Given the description of an element on the screen output the (x, y) to click on. 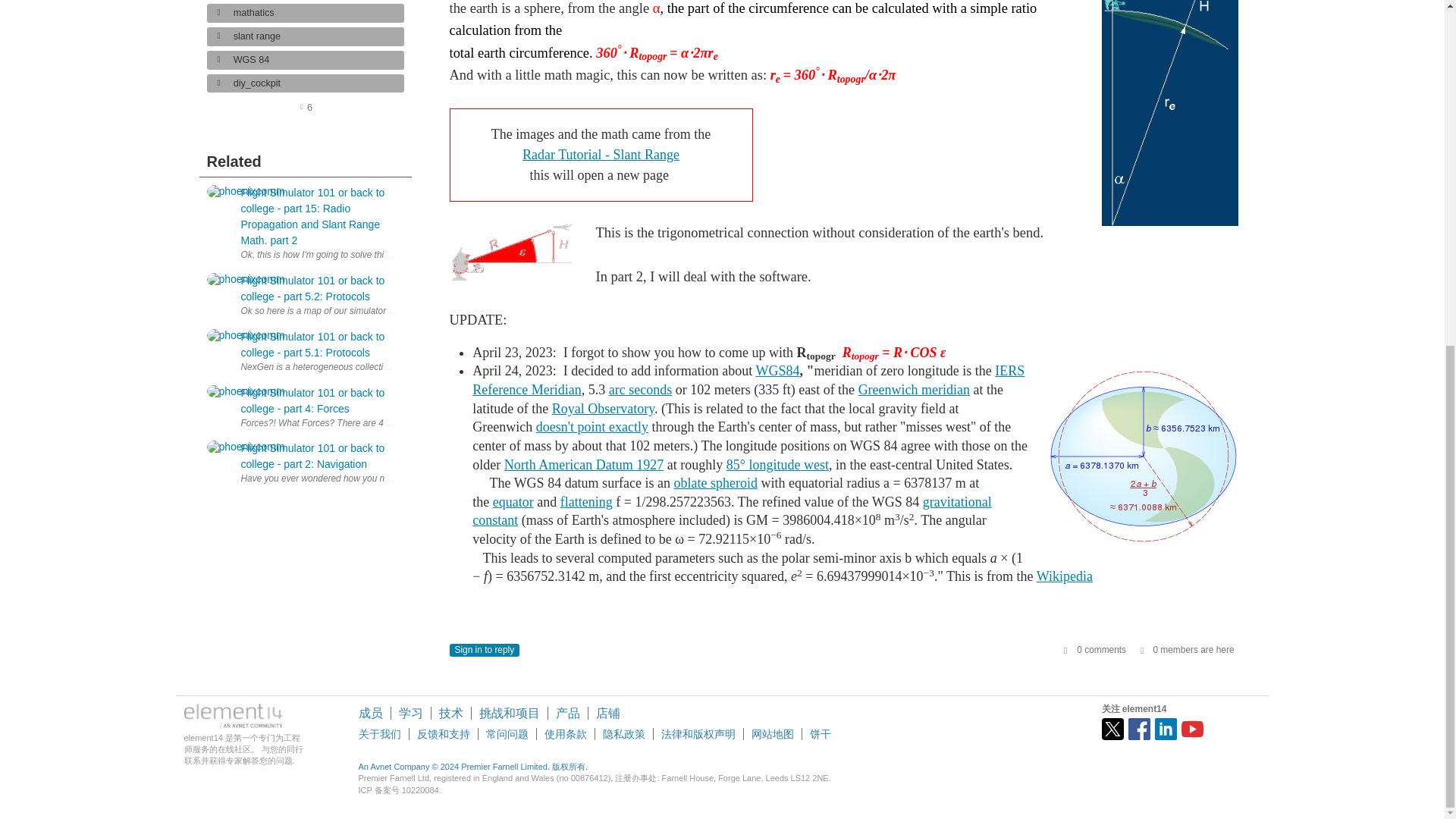
Greenwich meridian (914, 389)
Vertical deflection (591, 426)
IERS Reference Meridian (748, 380)
Royal Observatory, Greenwich (602, 408)
Minute of arc (639, 389)
